Given the description of an element on the screen output the (x, y) to click on. 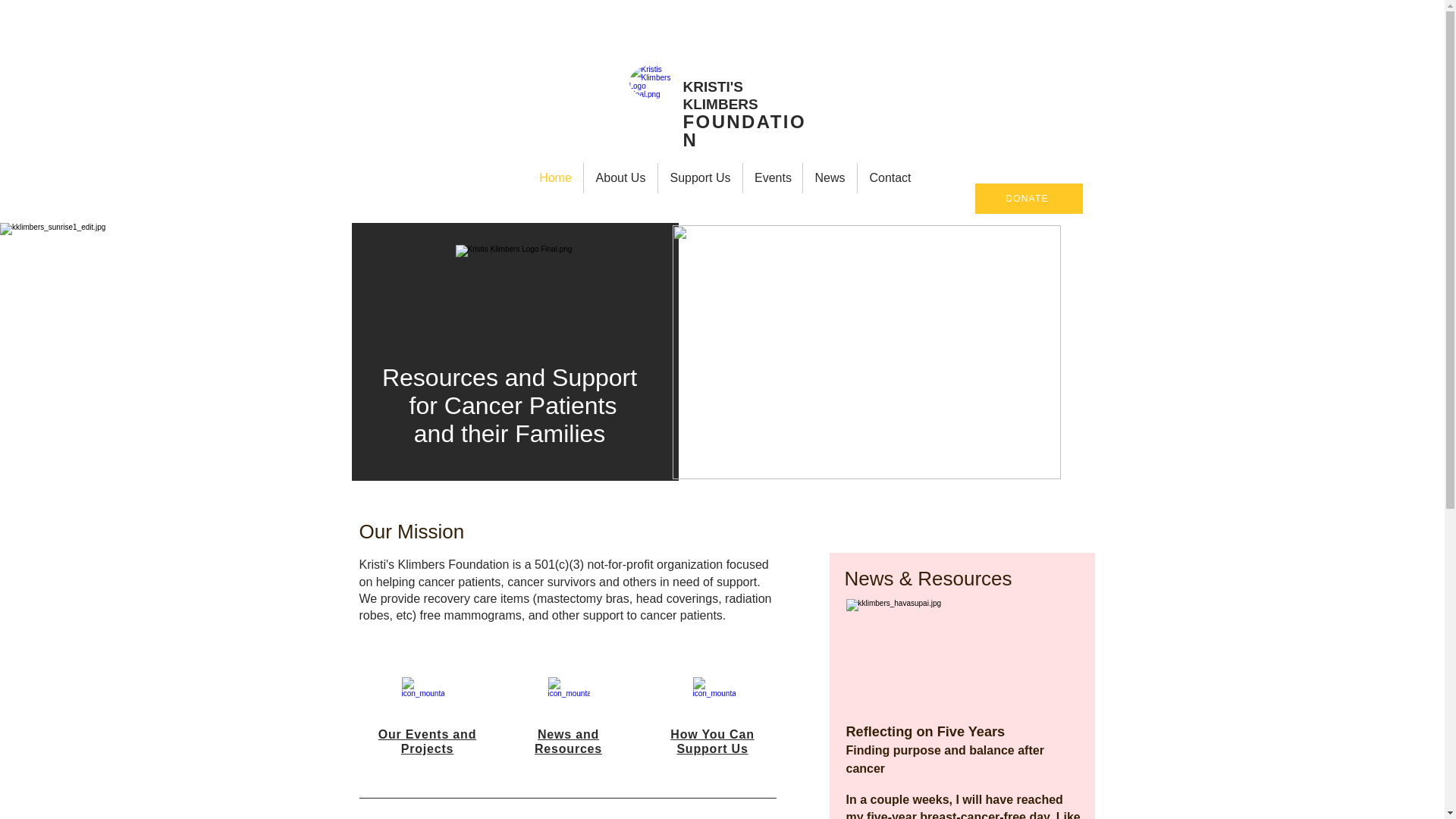
News and Resources (568, 741)
DONATE (1029, 198)
Events (772, 177)
Our Events and Projects (427, 741)
Support Us (700, 177)
FOUNDATION (743, 130)
Contact (890, 177)
Home (555, 177)
KRISTI'S KLIMBERS (719, 95)
About Us (620, 177)
